Given the description of an element on the screen output the (x, y) to click on. 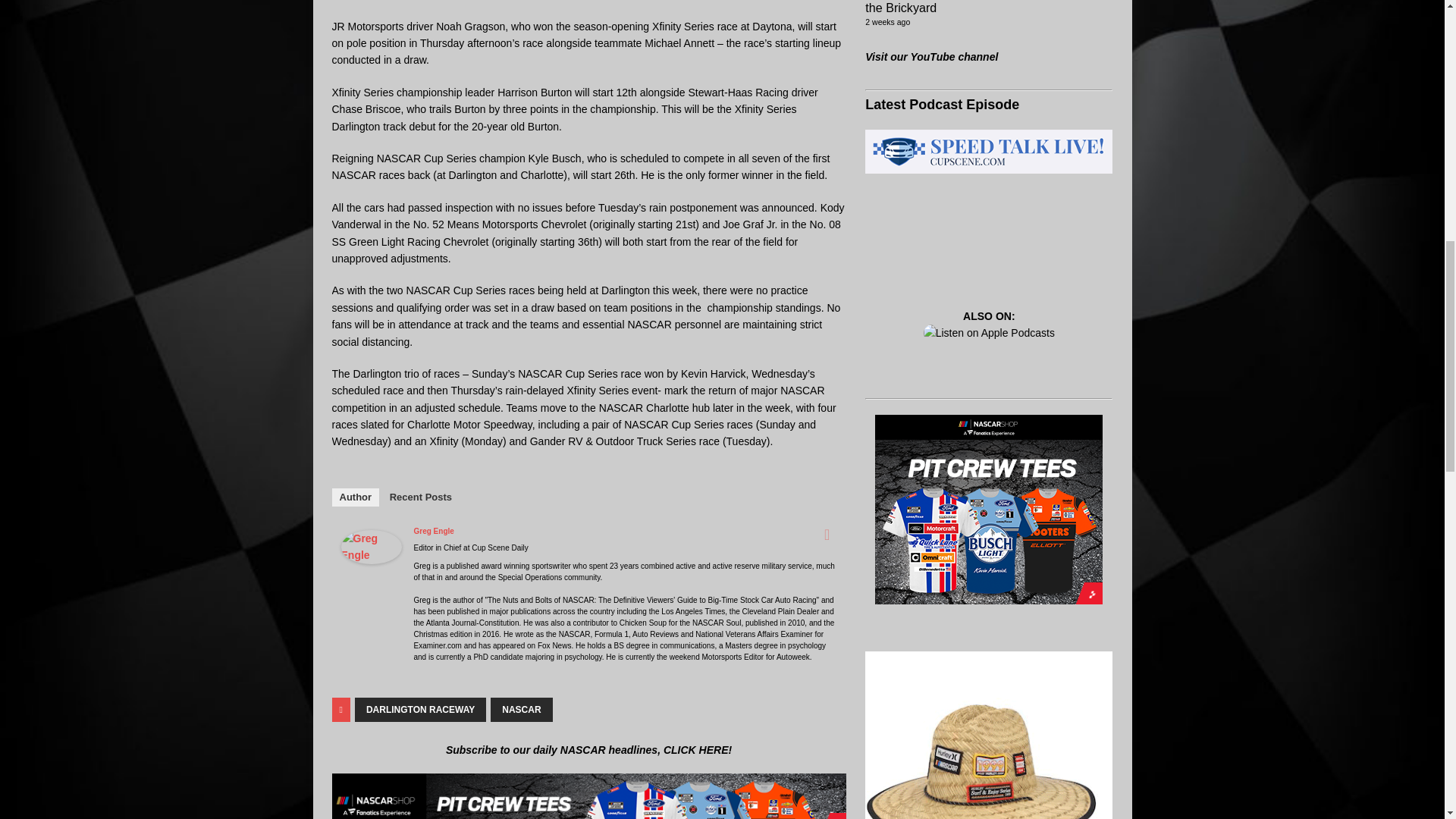
Author (355, 497)
Greg Engle (370, 554)
Recent Posts (420, 497)
Twitter (826, 534)
Speed Talk Live July 23, 2024: NASCAR at the Brickyard (980, 7)
